Given the description of an element on the screen output the (x, y) to click on. 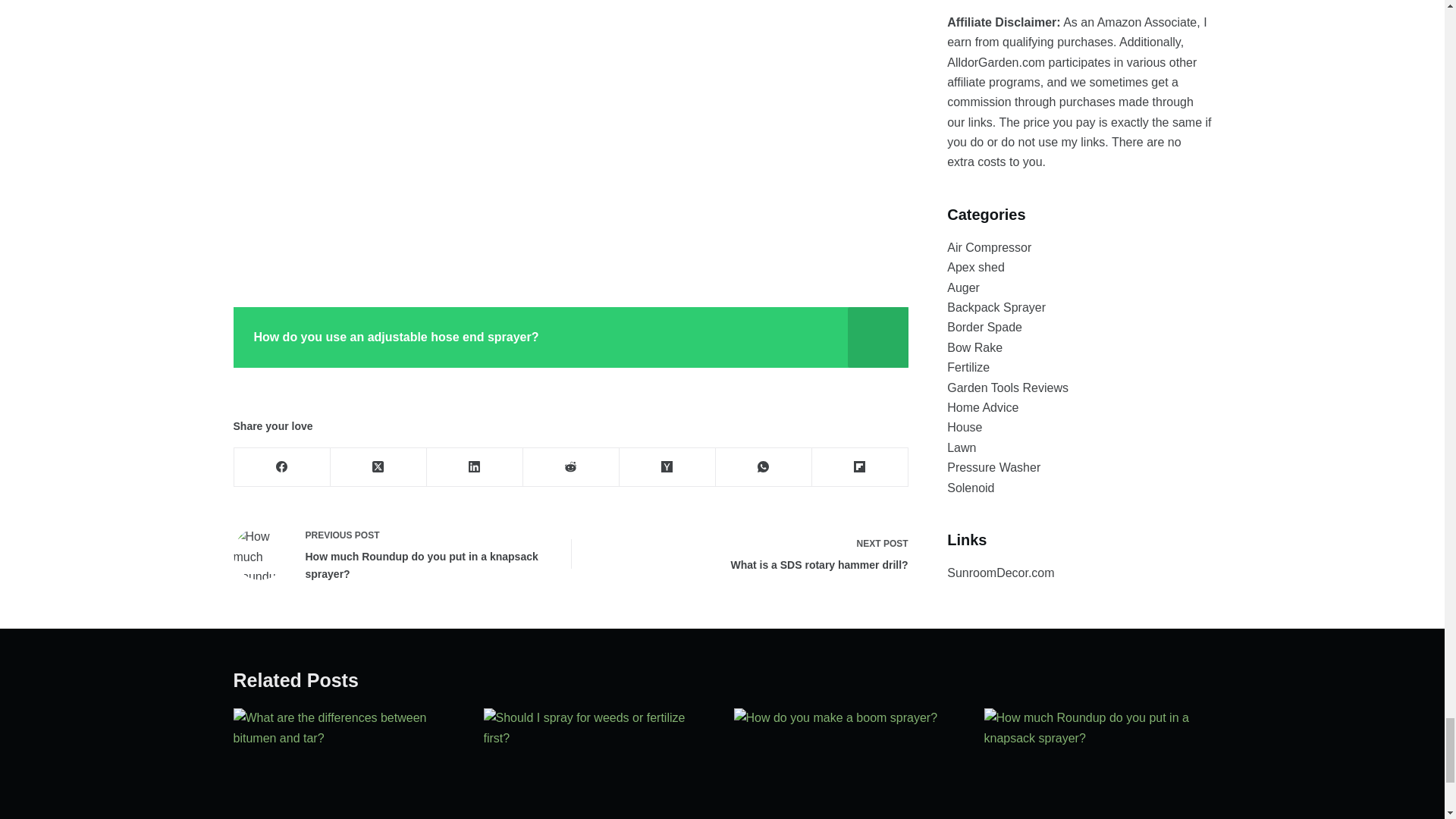
  How do you use an adjustable hose end sprayer? (751, 553)
